Given the description of an element on the screen output the (x, y) to click on. 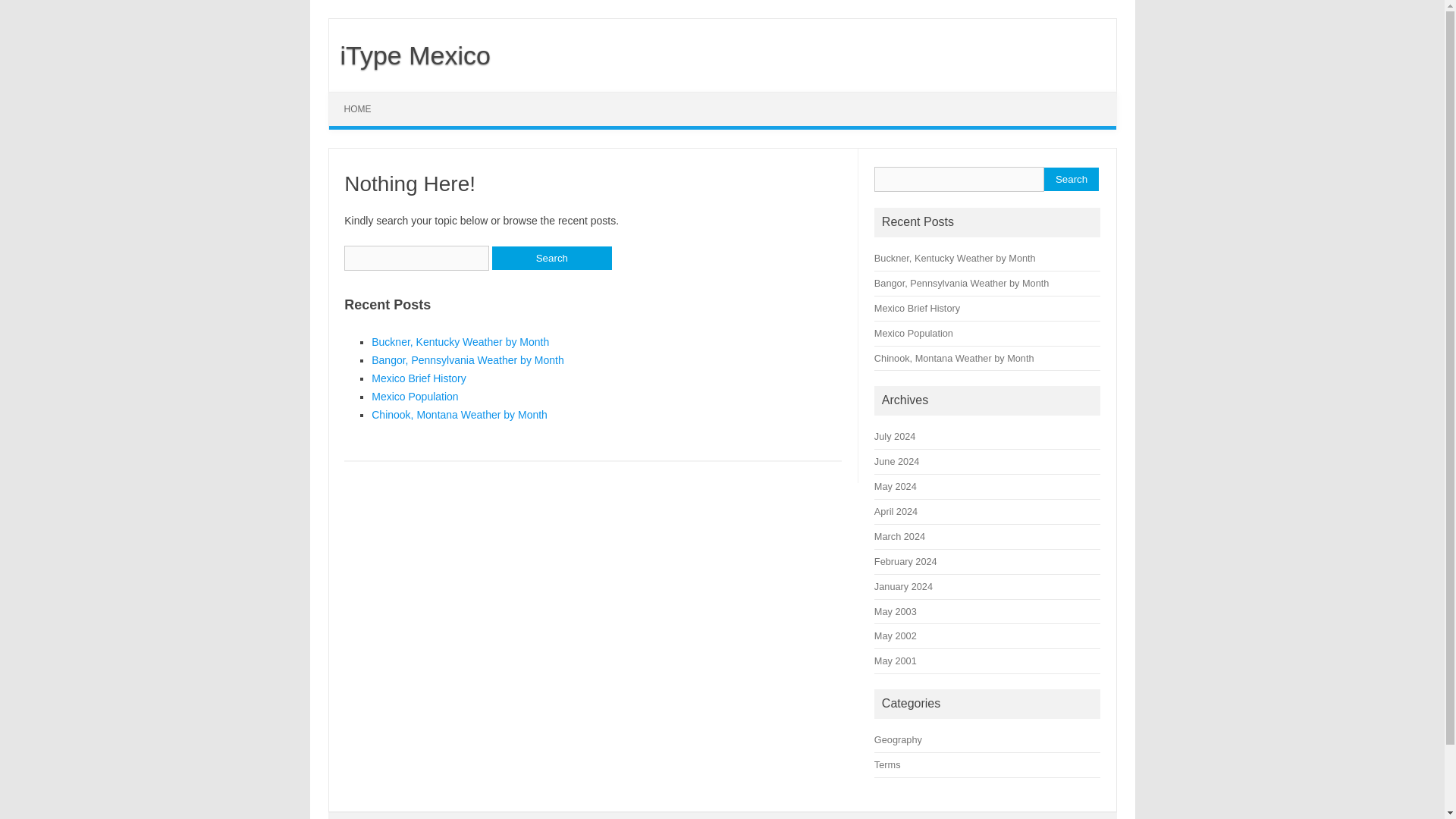
Mexico Brief History (917, 307)
April 2024 (896, 511)
Terms (888, 764)
July 2024 (895, 436)
iType Mexico (409, 54)
January 2024 (904, 586)
Mexico Population (414, 396)
Search (1070, 178)
Mexico Population (914, 333)
Search (551, 258)
Skip to content (363, 96)
Geography (898, 739)
May 2002 (896, 635)
Chinook, Montana Weather by Month (459, 414)
iType Mexico (409, 54)
